Given the description of an element on the screen output the (x, y) to click on. 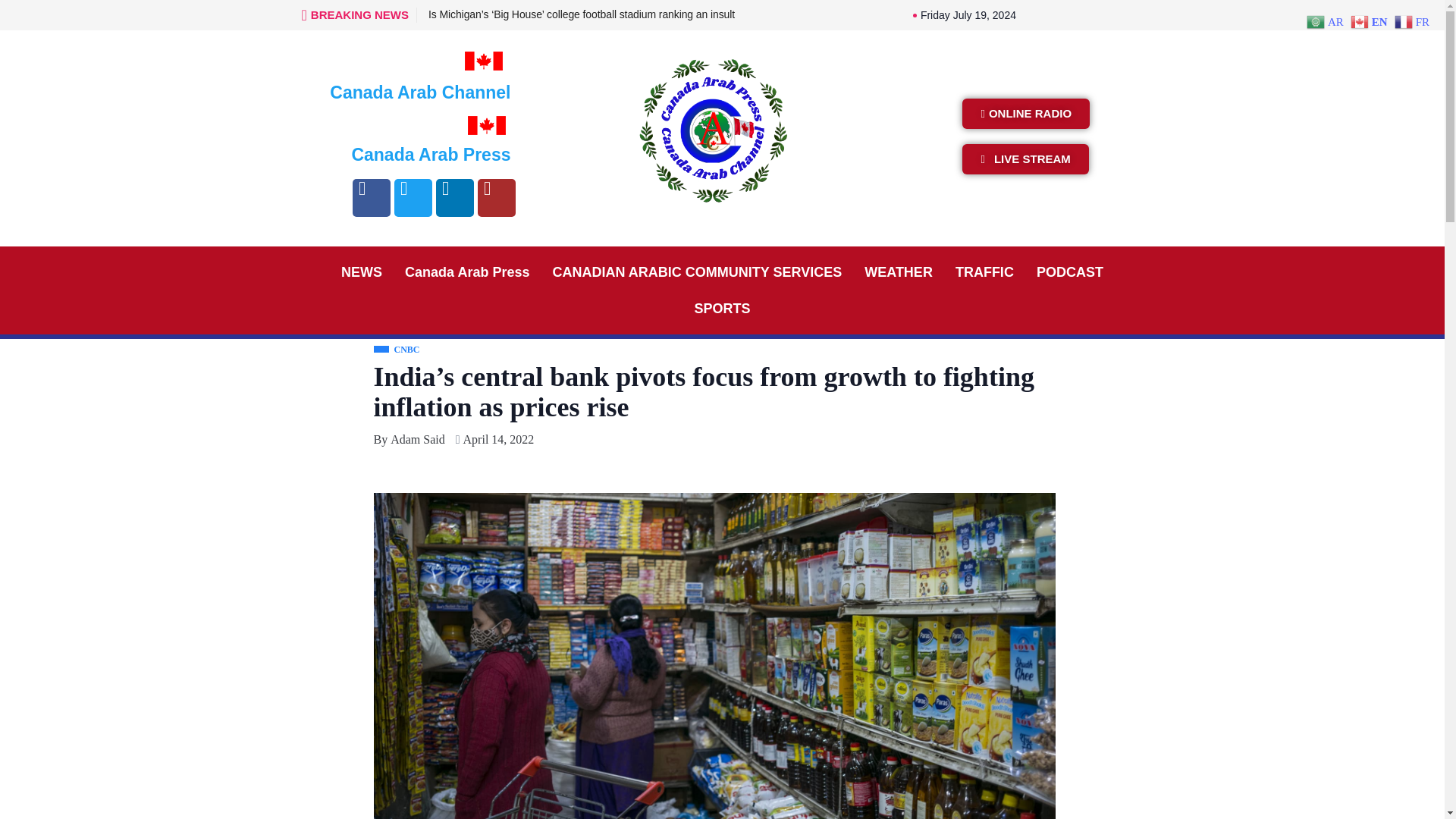
TRAFFIC (984, 271)
CANADIAN ARABIC COMMUNITY SERVICES (697, 271)
PODCAST (1070, 271)
SPORTS (721, 308)
NEWS (361, 271)
LIVE STREAM (1024, 159)
Canada Arab Press (466, 271)
ONLINE RADIO (1025, 113)
WEATHER (898, 271)
